Given the description of an element on the screen output the (x, y) to click on. 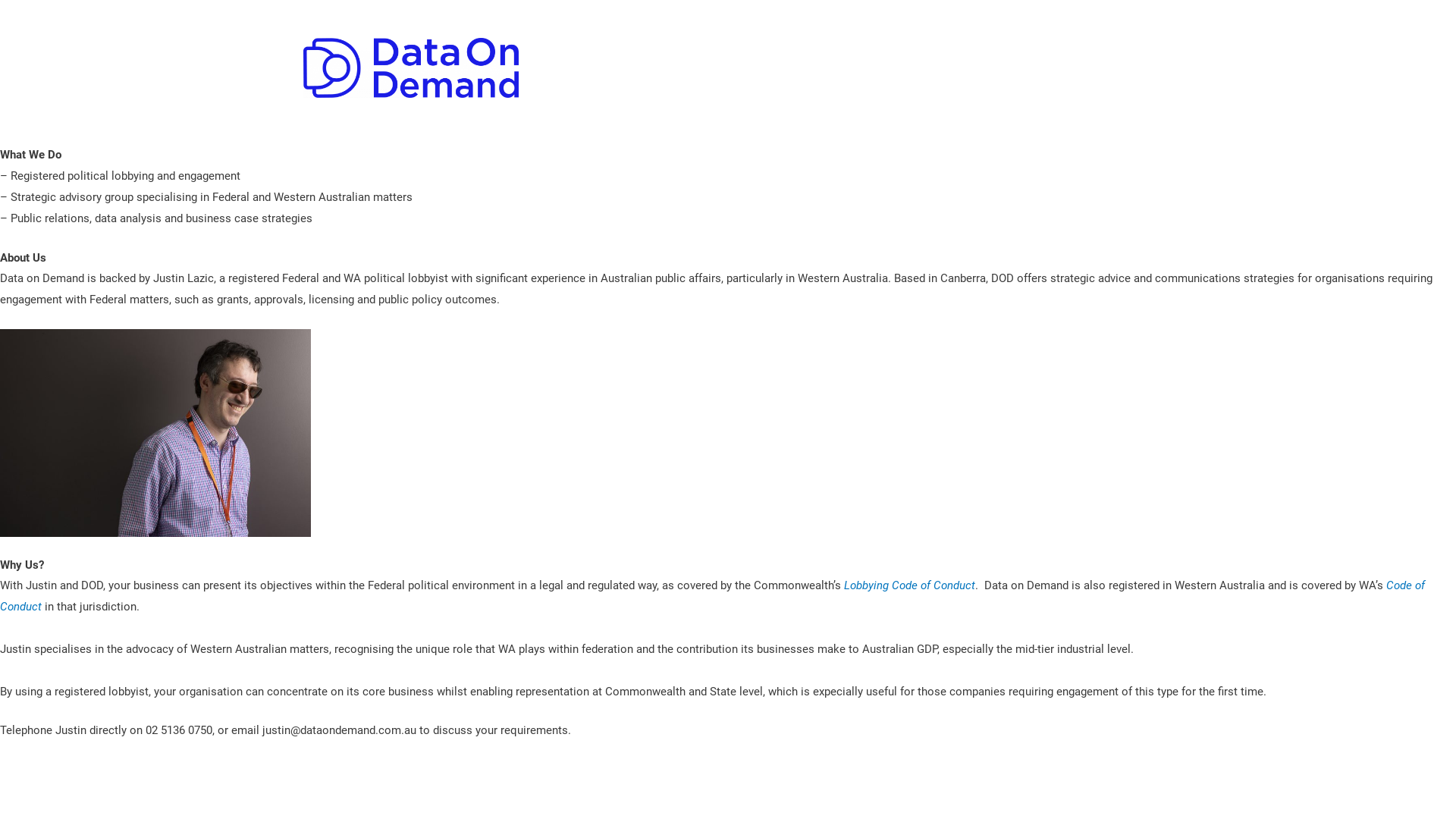
Code of Conduct Element type: text (712, 595)
Lobbying Code of Conduct Element type: text (909, 585)
